Given the description of an element on the screen output the (x, y) to click on. 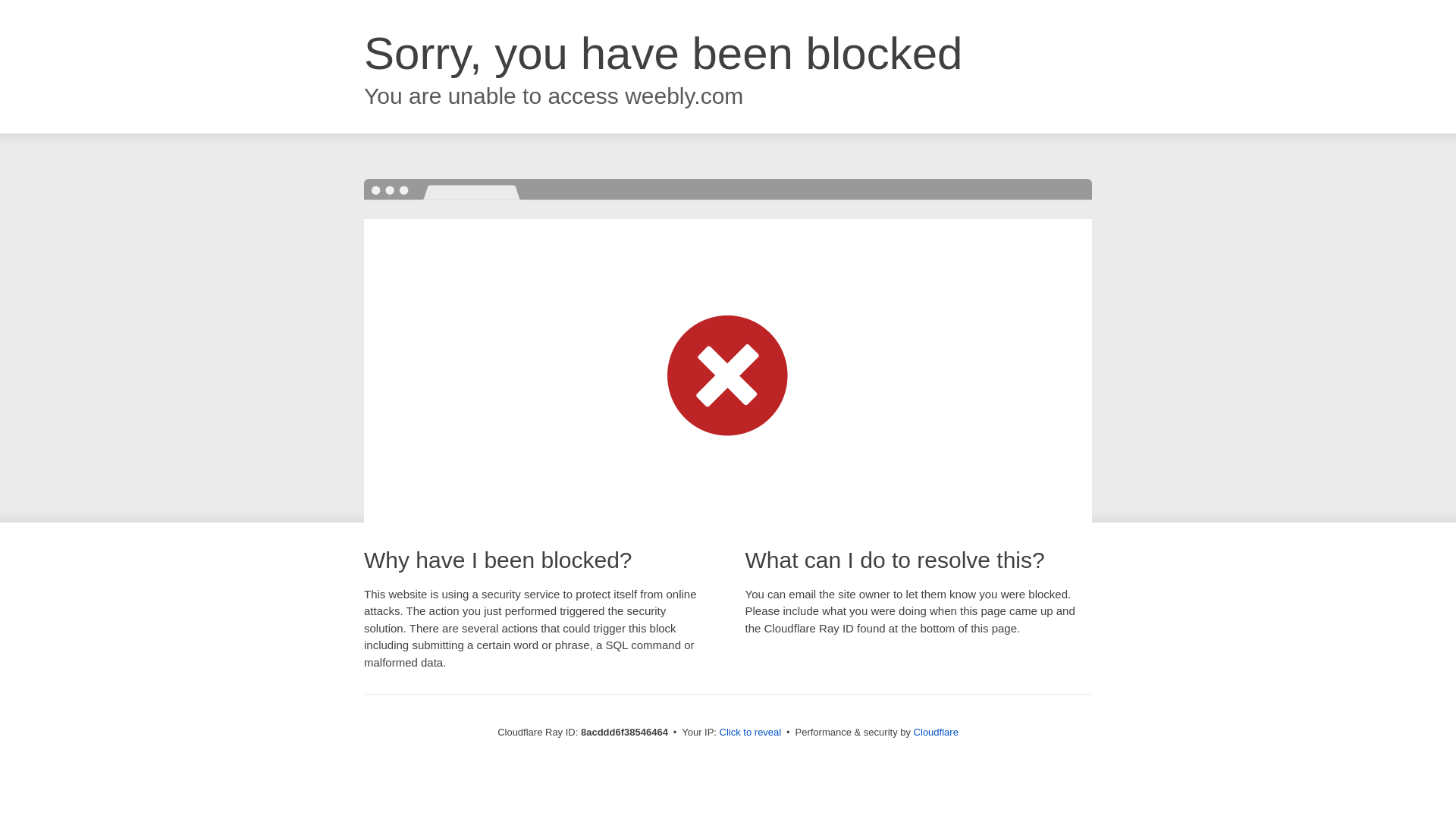
Cloudflare (936, 731)
Click to reveal (750, 732)
